Given the description of an element on the screen output the (x, y) to click on. 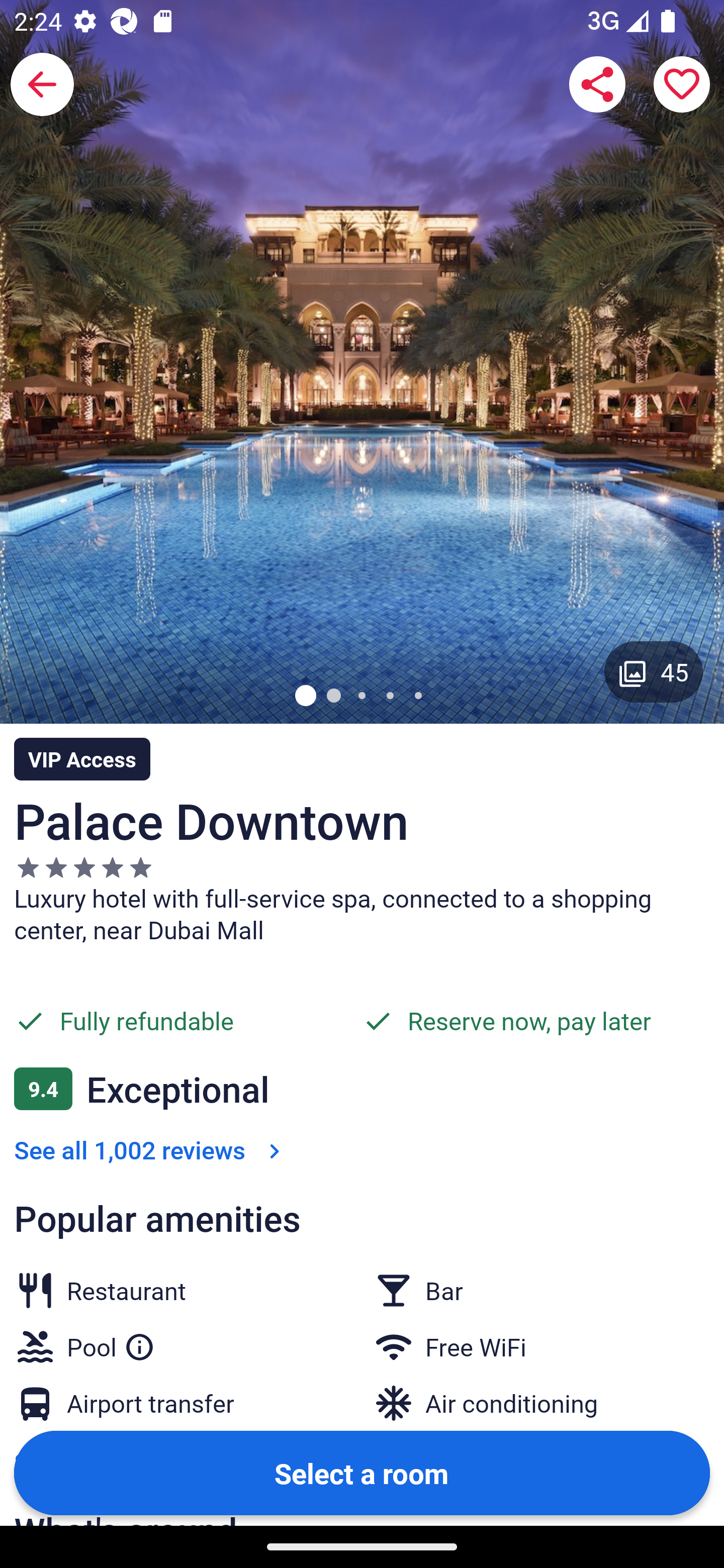
Back (42, 84)
Save property to a trip (681, 84)
Share Palace Downtown (597, 84)
Gallery button with 45 images (653, 671)
See all 1,002 reviews See all 1,002 reviews Link (150, 1149)
Pool (110, 1342)
Select a room Button Select a room (361, 1472)
